Given the description of an element on the screen output the (x, y) to click on. 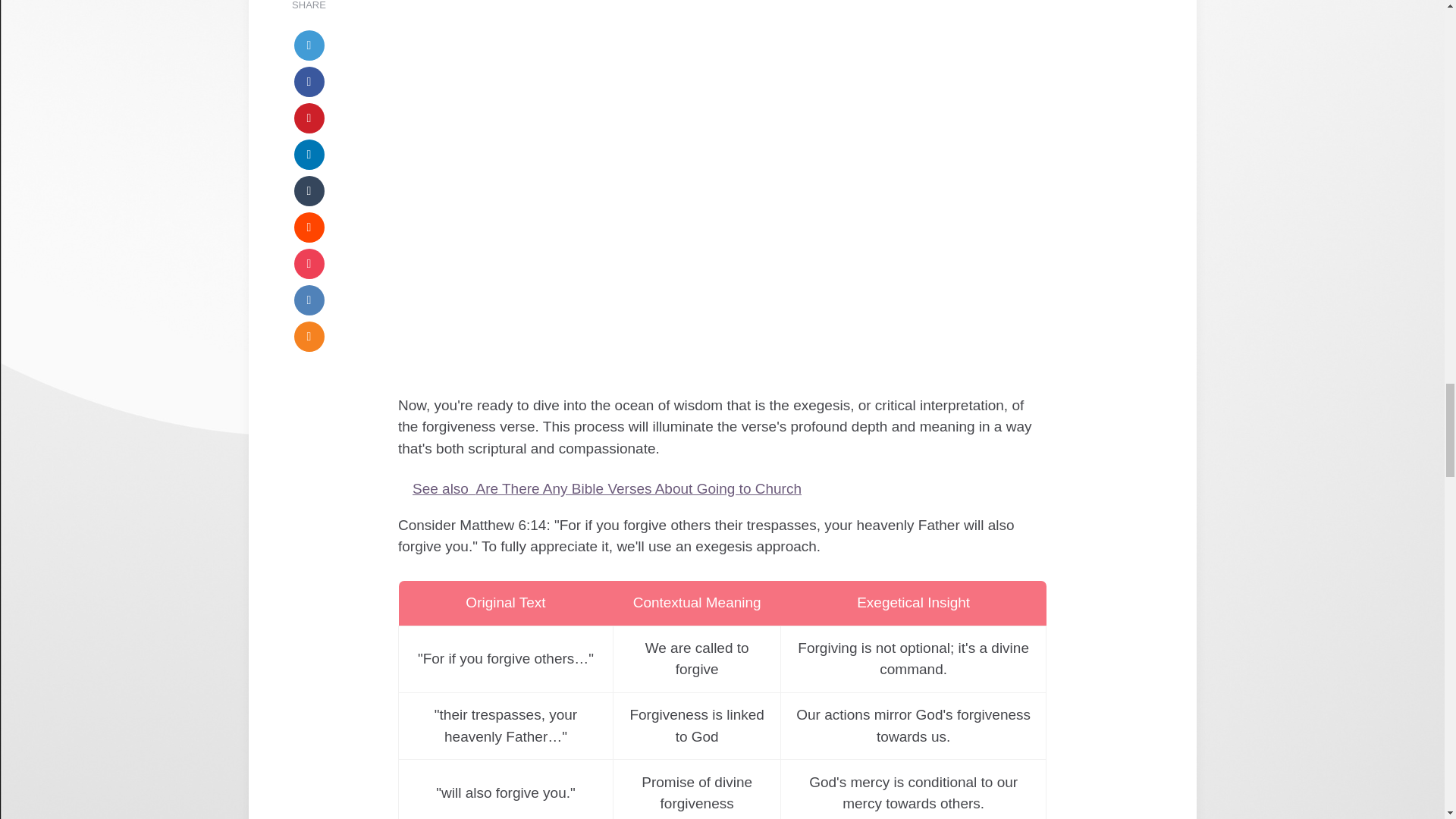
See also  Are There Any Bible Verses About Going to Church (721, 489)
